Given the description of an element on the screen output the (x, y) to click on. 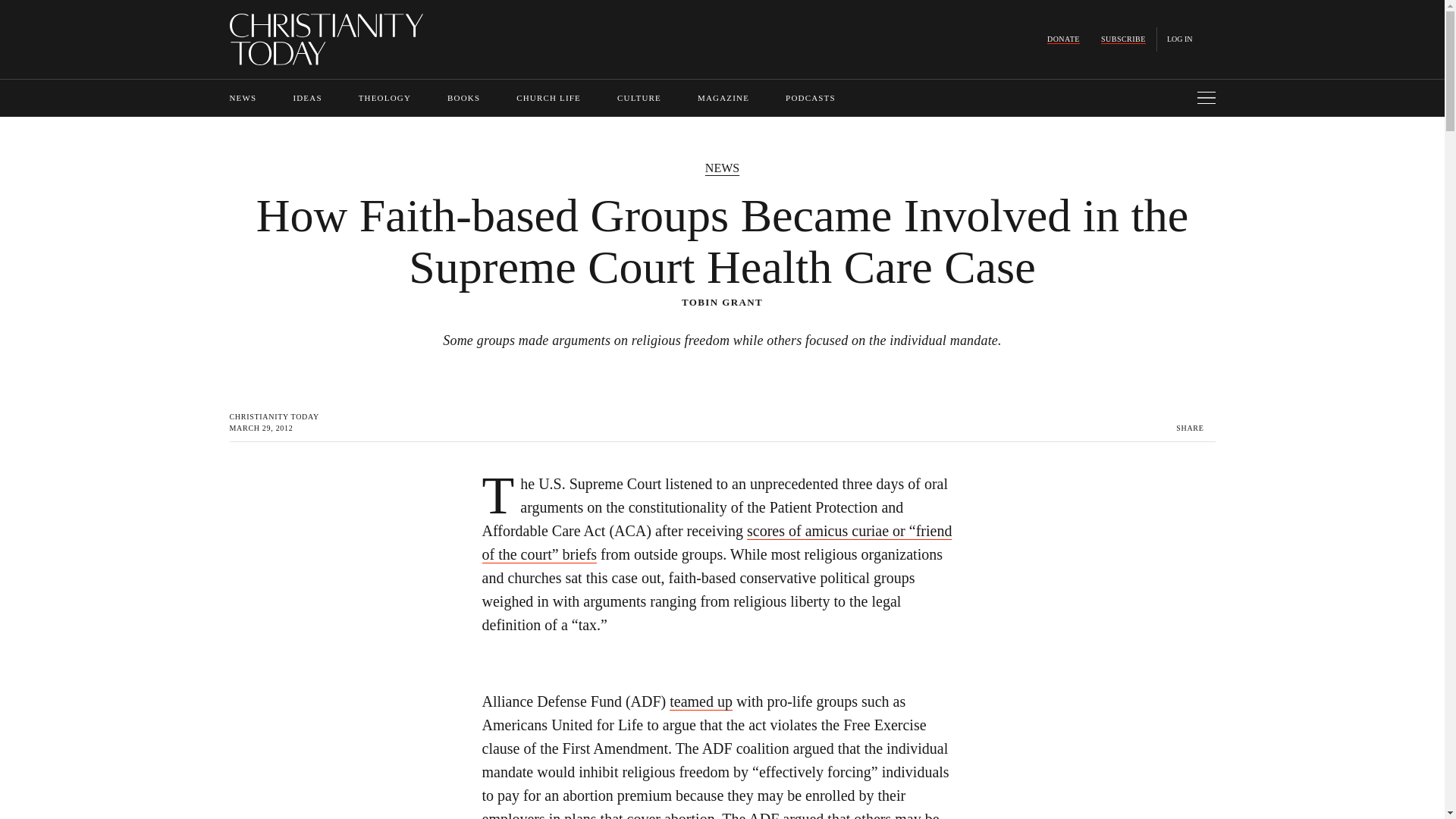
NEWS (242, 97)
PODCASTS (810, 97)
CULTURE (639, 97)
LOG IN (1179, 39)
DONATE (1063, 39)
MAGAZINE (723, 97)
SUBSCRIBE (1122, 39)
IDEAS (306, 97)
CHURCH LIFE (548, 97)
THEOLOGY (384, 97)
